Given the description of an element on the screen output the (x, y) to click on. 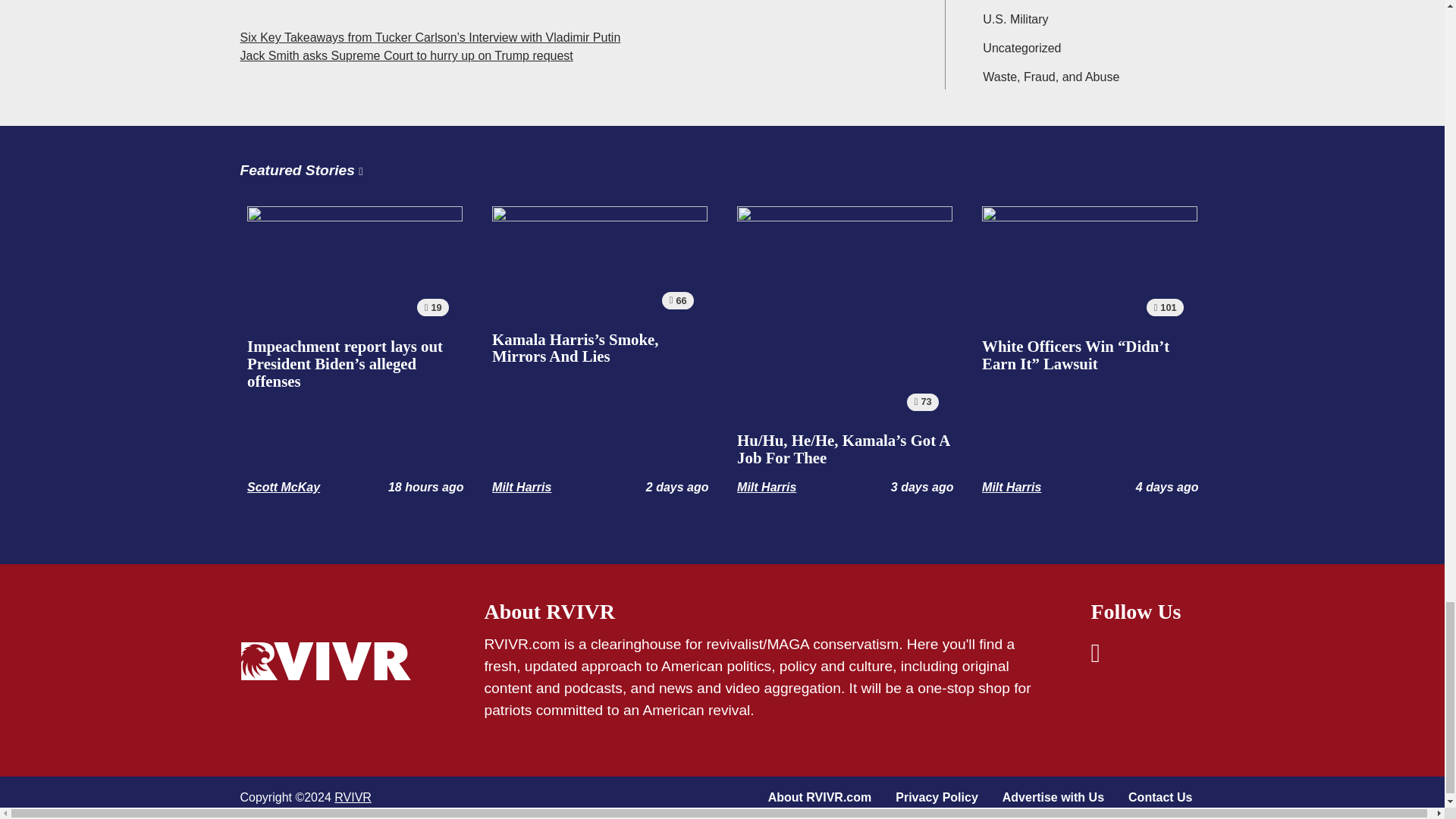
RVIVR (352, 797)
Posts by Milt Harris (1011, 487)
Posts by Milt Harris (765, 487)
Posts by Scott McKay (283, 487)
Posts by Milt Harris (522, 487)
Jack Smith asks Supreme Court to hurry up on Trump request (406, 55)
